Given the description of an element on the screen output the (x, y) to click on. 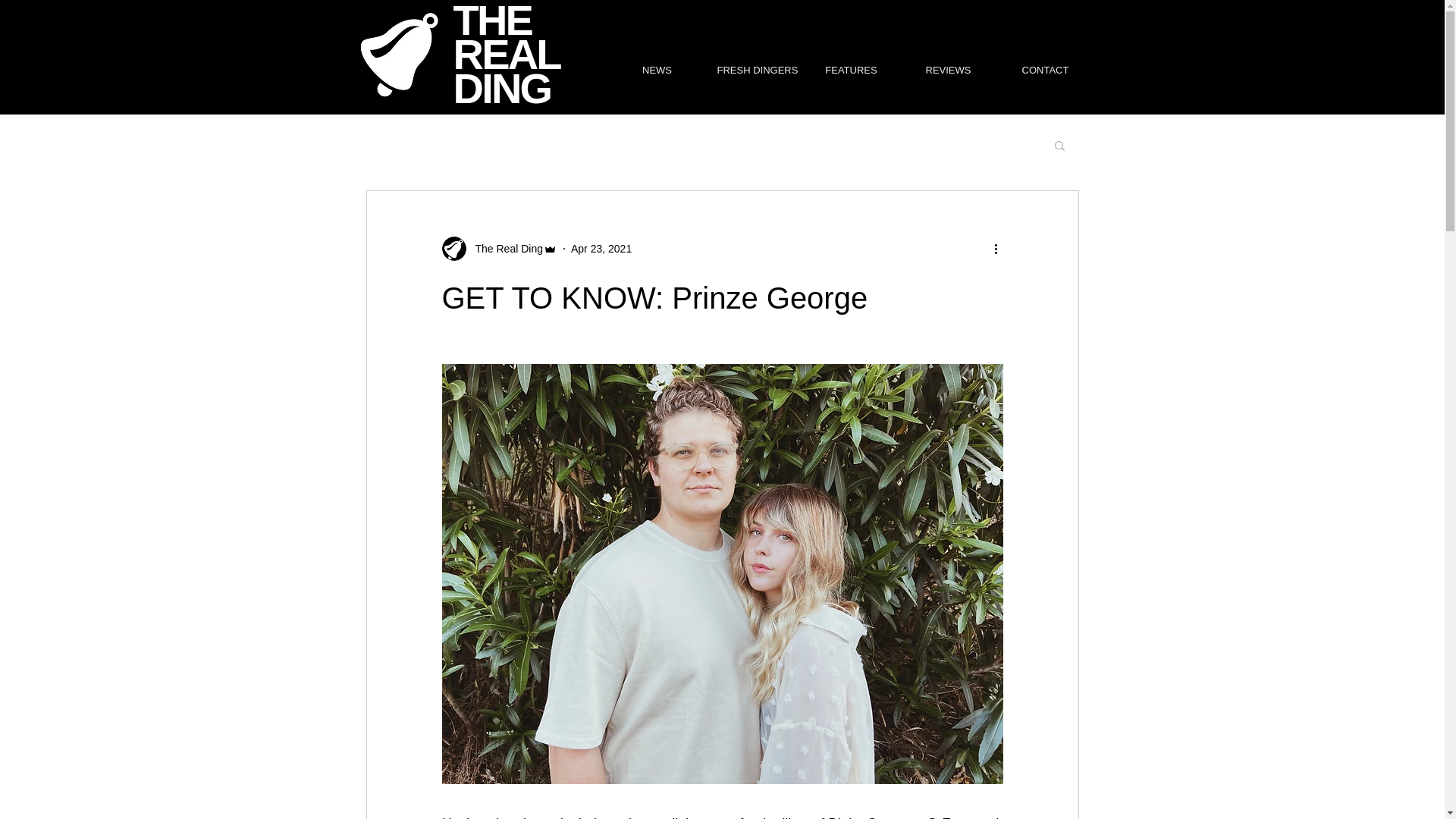
NEWS (656, 69)
REVIEWS (947, 69)
FEATURES (850, 69)
Apr 23, 2021 (600, 248)
FRESH DINGERS (753, 69)
The Real Ding (504, 248)
CONTACT (1044, 69)
